Given the description of an element on the screen output the (x, y) to click on. 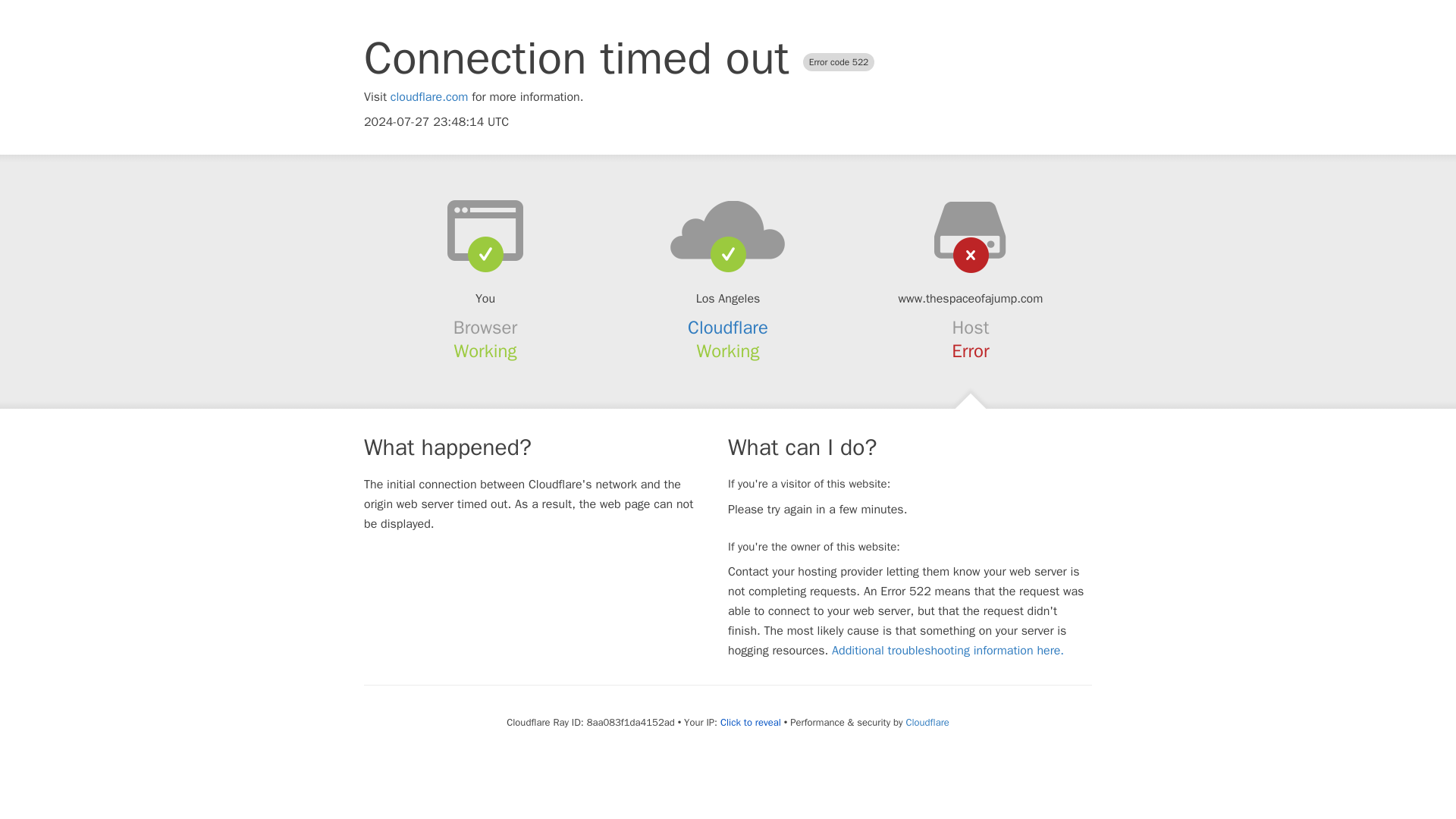
cloudflare.com (429, 96)
Cloudflare (727, 327)
Cloudflare (927, 721)
Additional troubleshooting information here. (947, 650)
Click to reveal (750, 722)
